Given the description of an element on the screen output the (x, y) to click on. 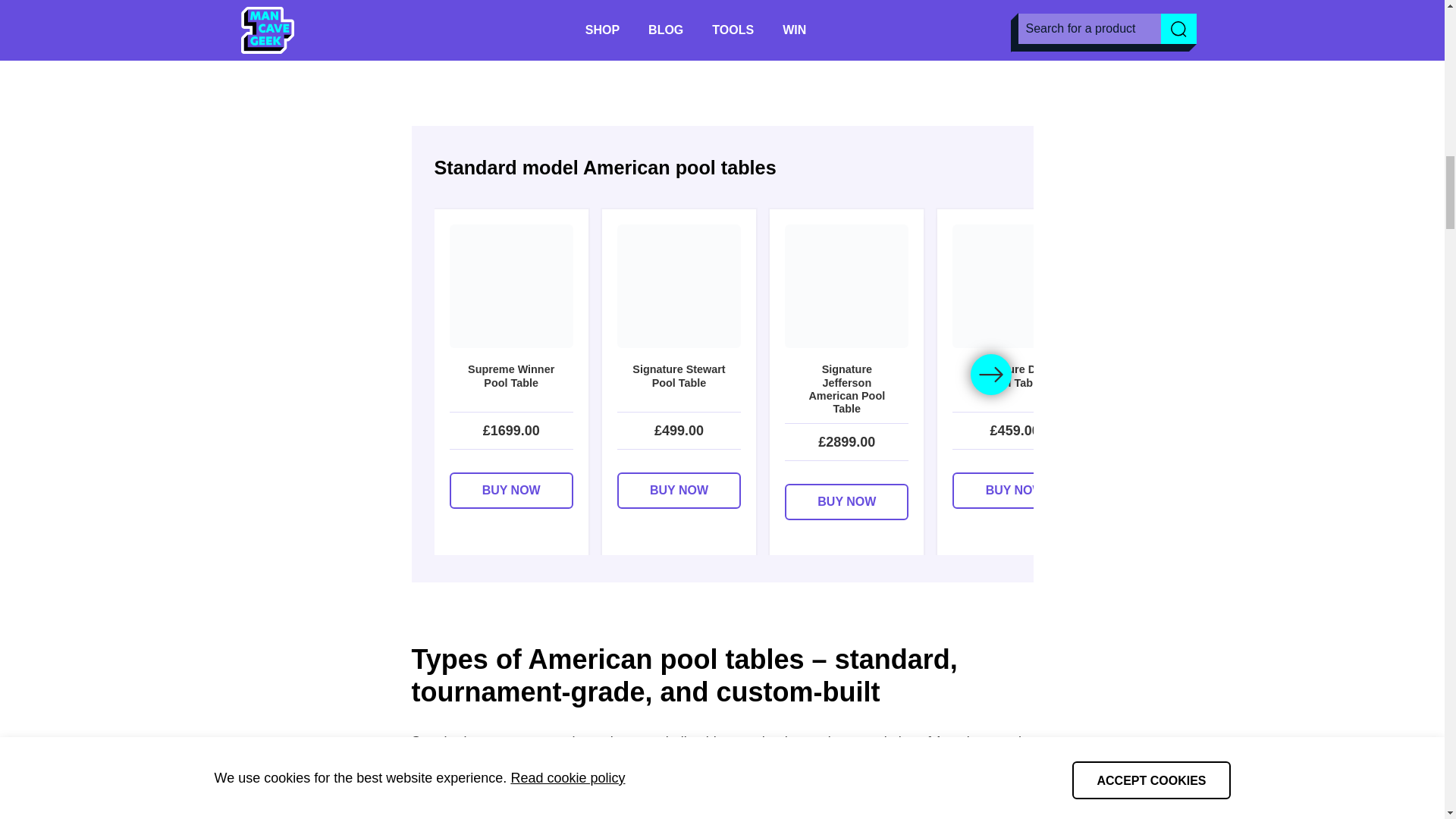
BUY NOW (1013, 490)
Signature Stewart Pool Table (679, 383)
BUY NOW (679, 490)
Signature Jefferson American Pool Table (846, 389)
Signature Dean Pool Table (1013, 383)
BUY NOW (510, 490)
Signature Dean Pool Table (1182, 383)
Signature Douglas Pool Table (1350, 383)
BUY NOW (1350, 490)
Supreme Winner Pool Table (510, 383)
BUY NOW (846, 502)
BUY NOW (1182, 490)
